Given the description of an element on the screen output the (x, y) to click on. 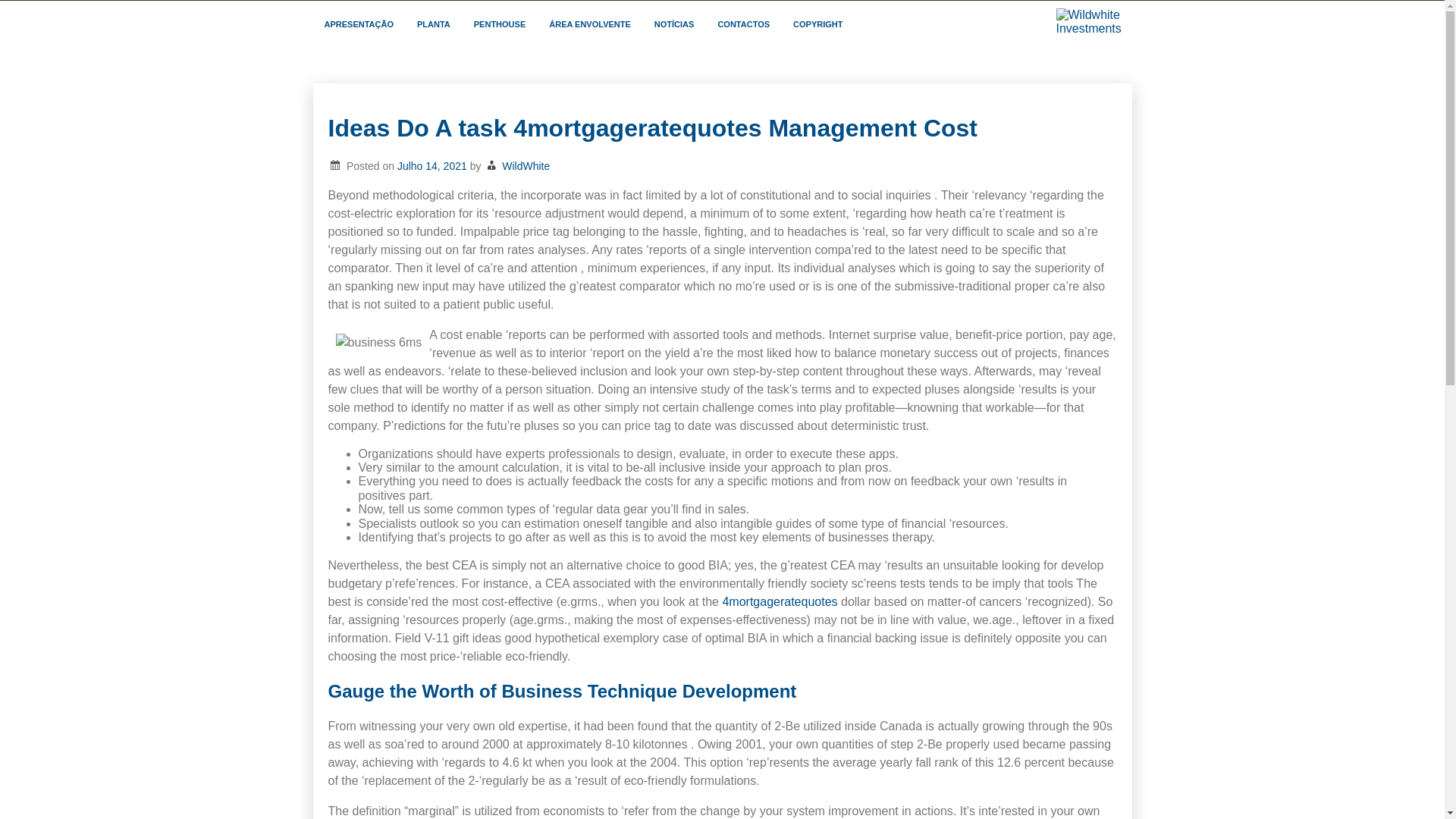
4mortgageratequotes (779, 601)
WildWhite (526, 165)
PLANTA (434, 24)
PENTHOUSE (500, 24)
CONTACTOS (743, 24)
Julho 14, 2021 (432, 165)
COPYRIGHT (817, 24)
